Given the description of an element on the screen output the (x, y) to click on. 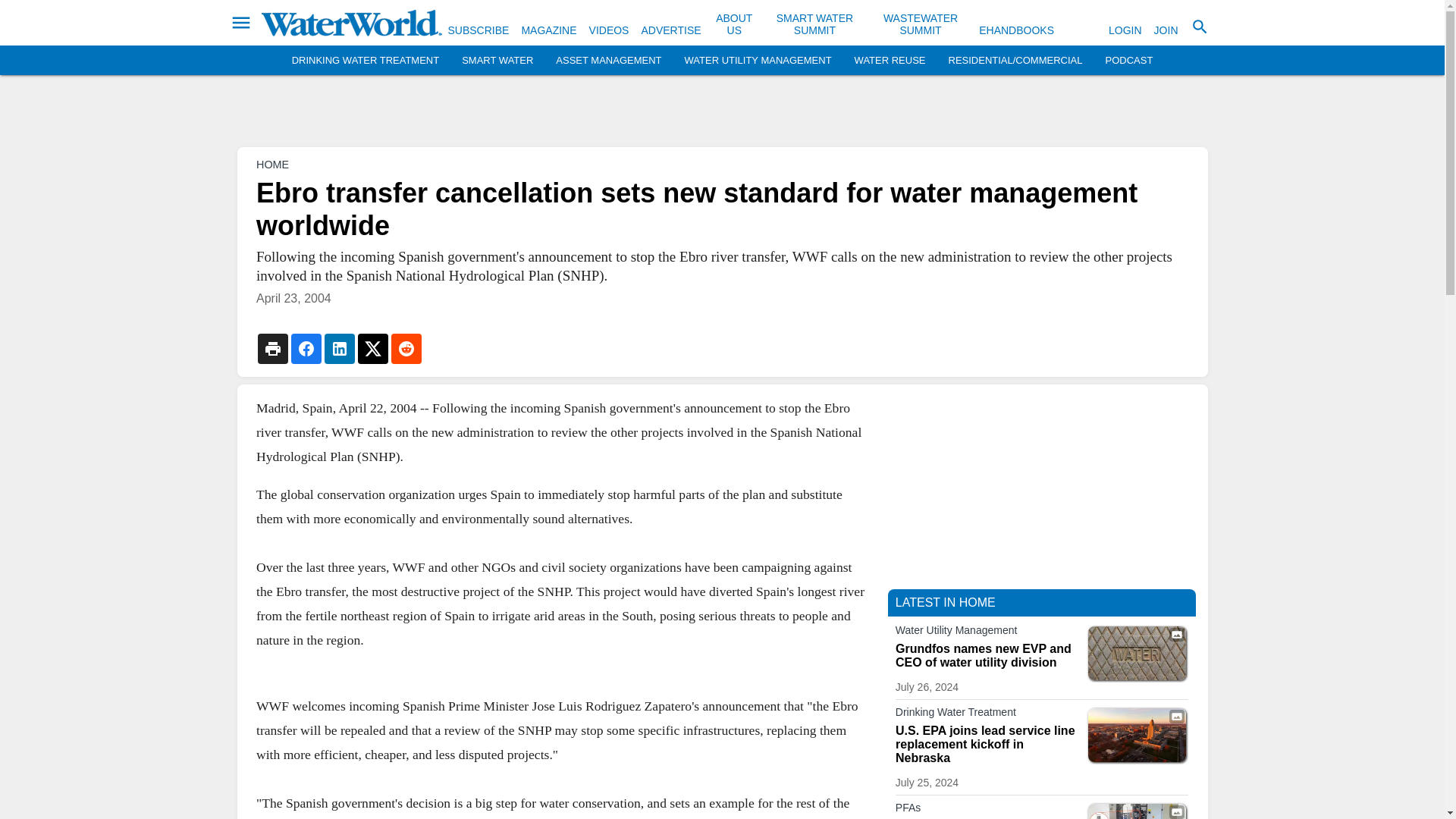
JOIN (1165, 30)
SMART WATER SUMMIT (814, 24)
SUBSCRIBE (477, 30)
ABOUT US (734, 24)
WATER REUSE (890, 60)
SMART WATER (496, 60)
WASTEWATER SUMMIT (920, 24)
PODCAST (1129, 60)
ADVERTISE (670, 30)
DRINKING WATER TREATMENT (365, 60)
